Given the description of an element on the screen output the (x, y) to click on. 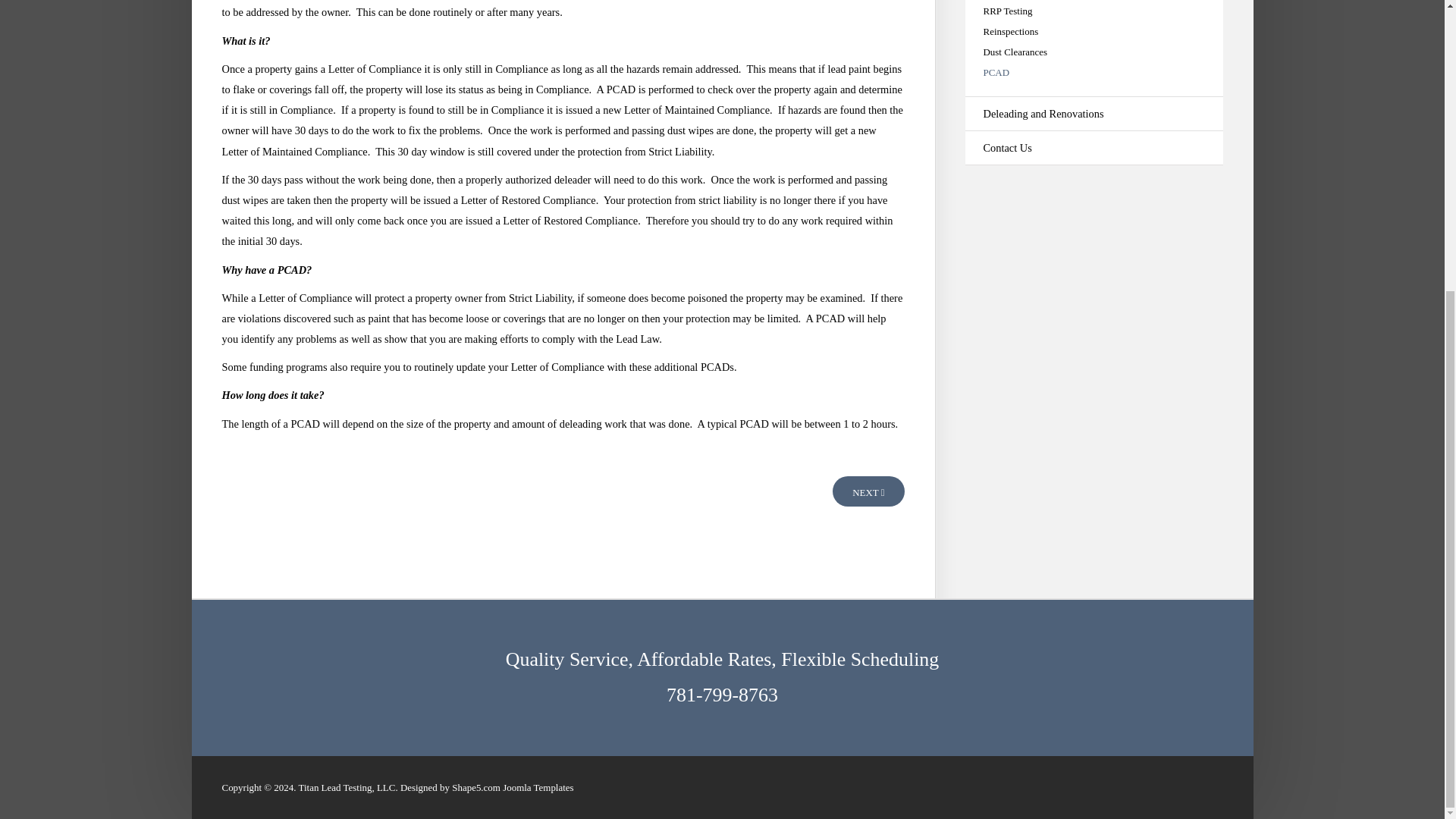
Visit Shape5.com Joomla Template Club (537, 787)
Joomla Templates (537, 787)
Contact Us (1093, 148)
Dust Clearances (1093, 51)
Deleading and Renovations (1093, 114)
Reinspections (1093, 30)
RRP Testing (1093, 10)
NEXT (868, 490)
PCAD (1093, 71)
